Given the description of an element on the screen output the (x, y) to click on. 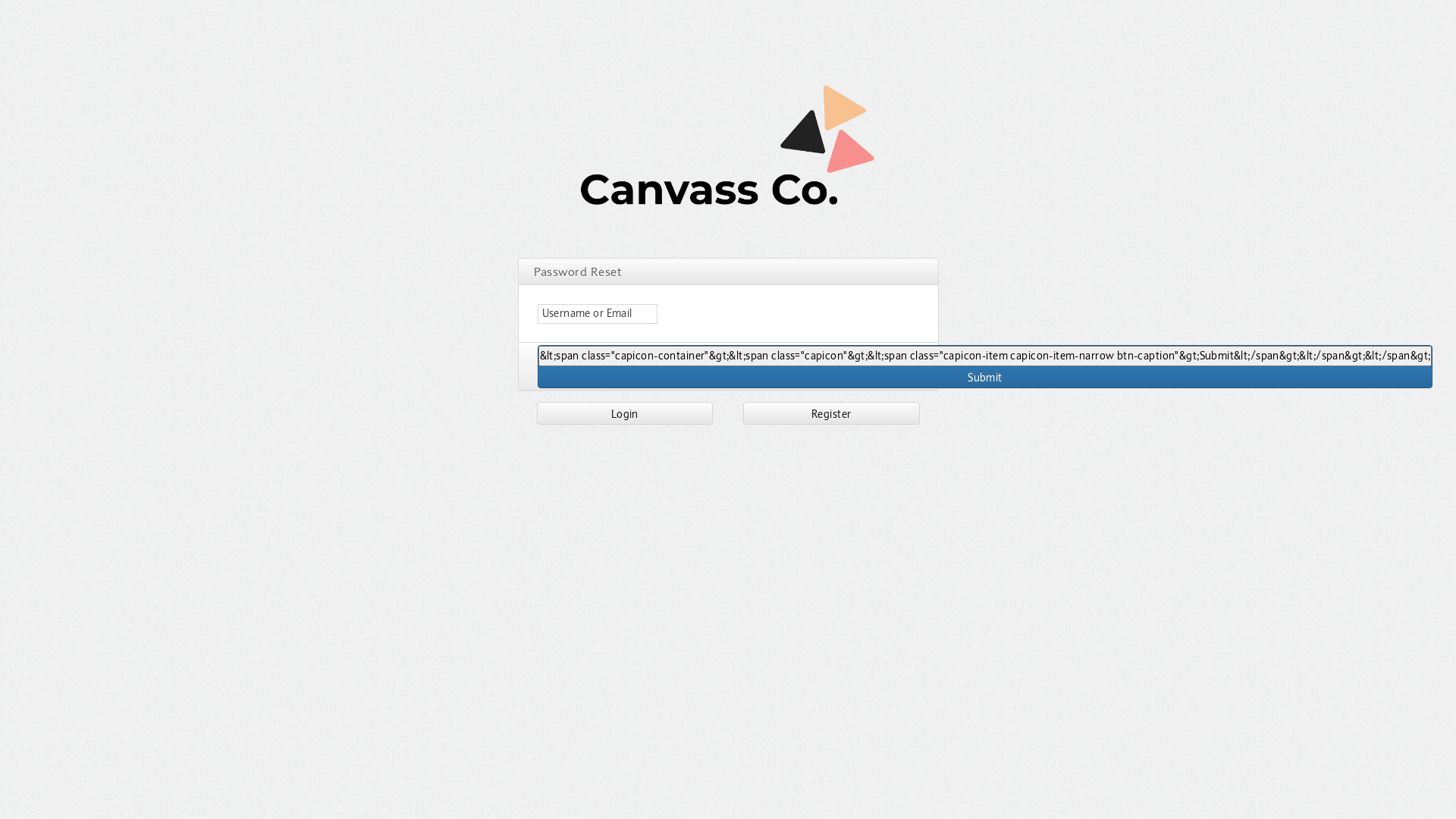
Login Element type: text (624, 412)
Register Element type: text (831, 412)
Request that a password reset link be sent to your email. Element type: hover (985, 356)
